Given the description of an element on the screen output the (x, y) to click on. 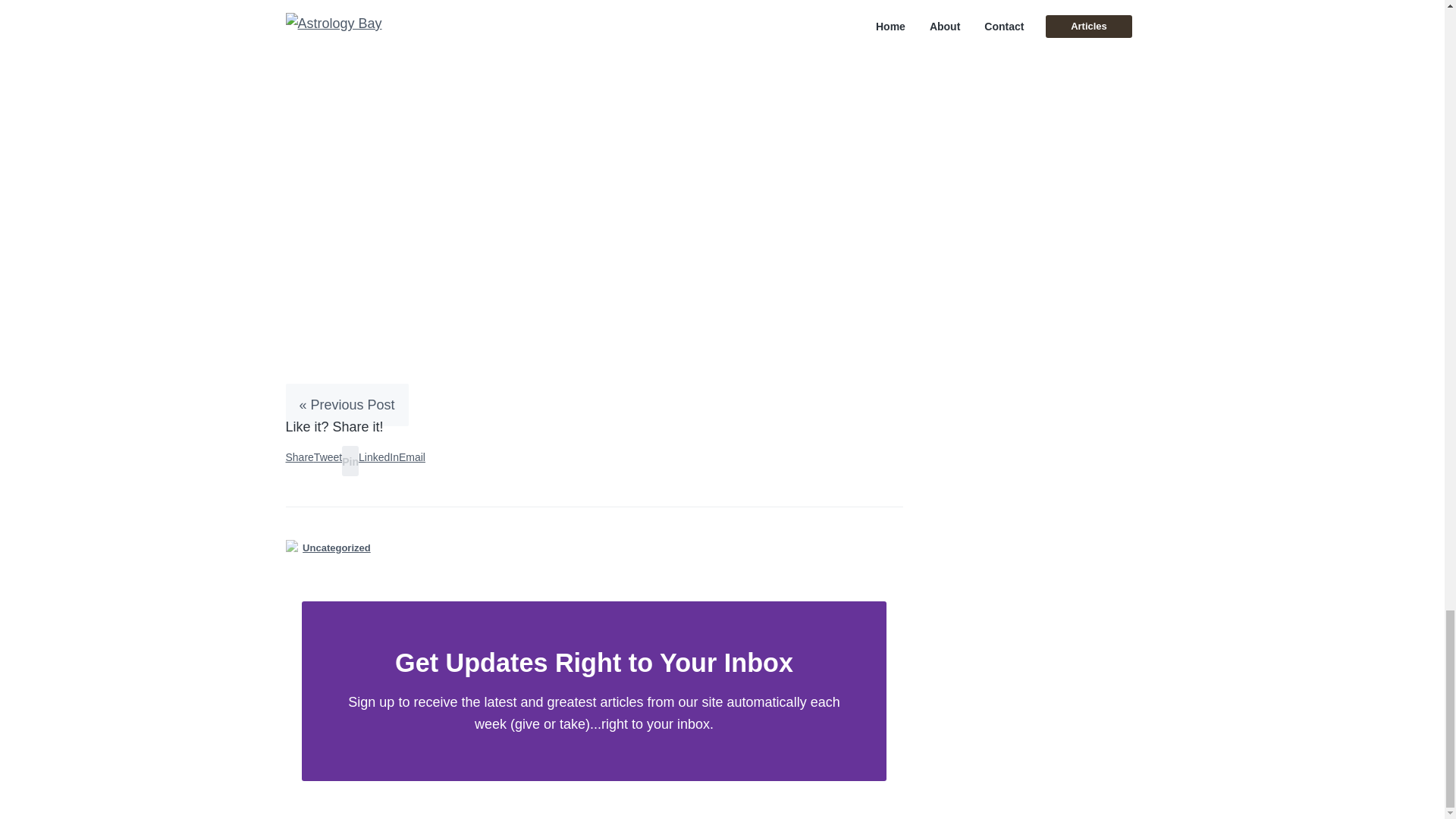
Share on Twitter (328, 457)
Share on Facebook (299, 457)
Share on LinkedIn (378, 457)
Email (411, 457)
Tweet (328, 457)
Gift Voucher Online Casinos Review (395, 15)
Gift Voucher Online Casinos Review (395, 15)
Send over email (411, 457)
LinkedIn (378, 457)
Uncategorized (336, 547)
Share (299, 457)
